Given the description of an element on the screen output the (x, y) to click on. 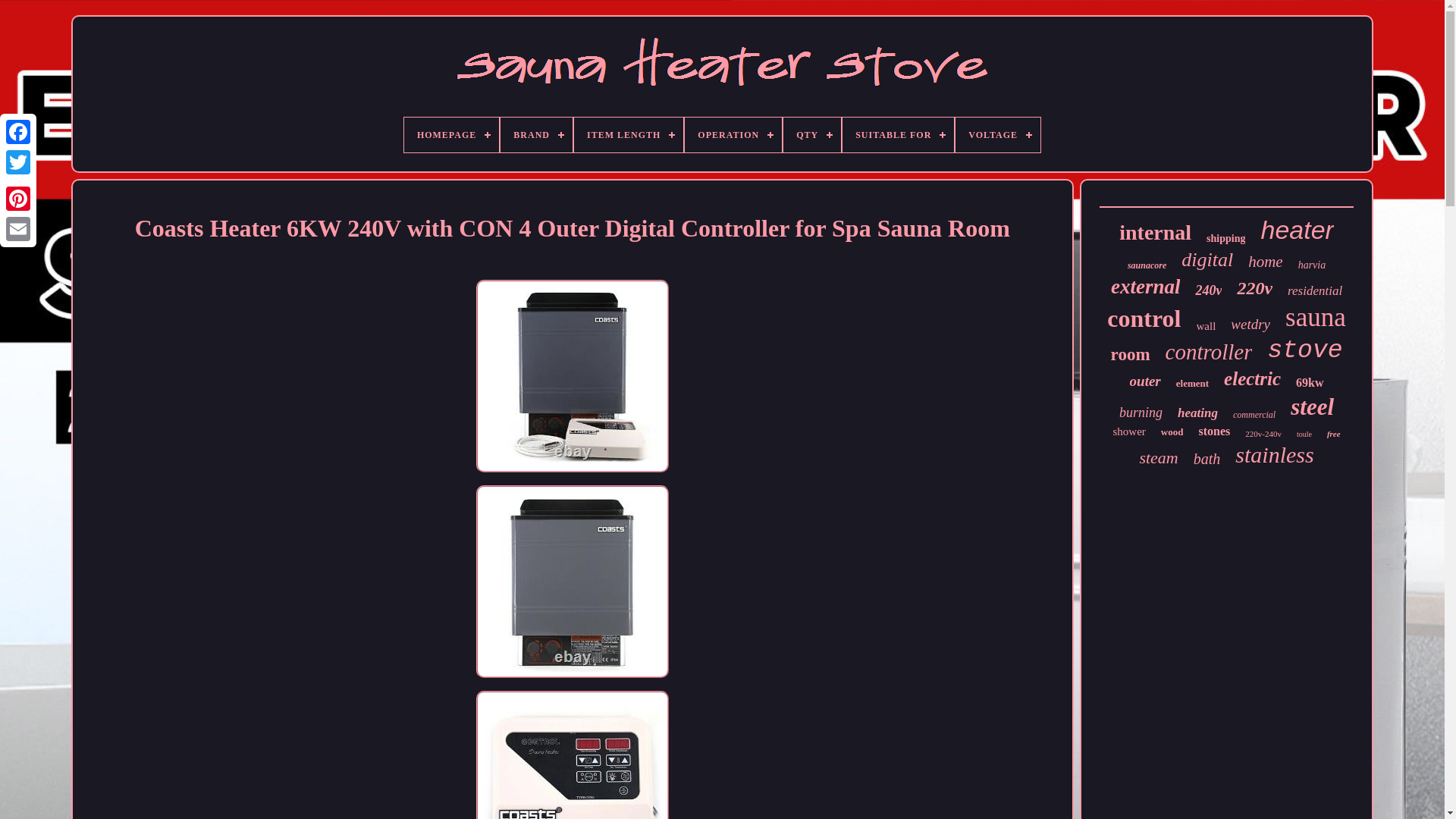
HOMEPAGE (451, 134)
ITEM LENGTH (627, 134)
BRAND (536, 134)
